Given the description of an element on the screen output the (x, y) to click on. 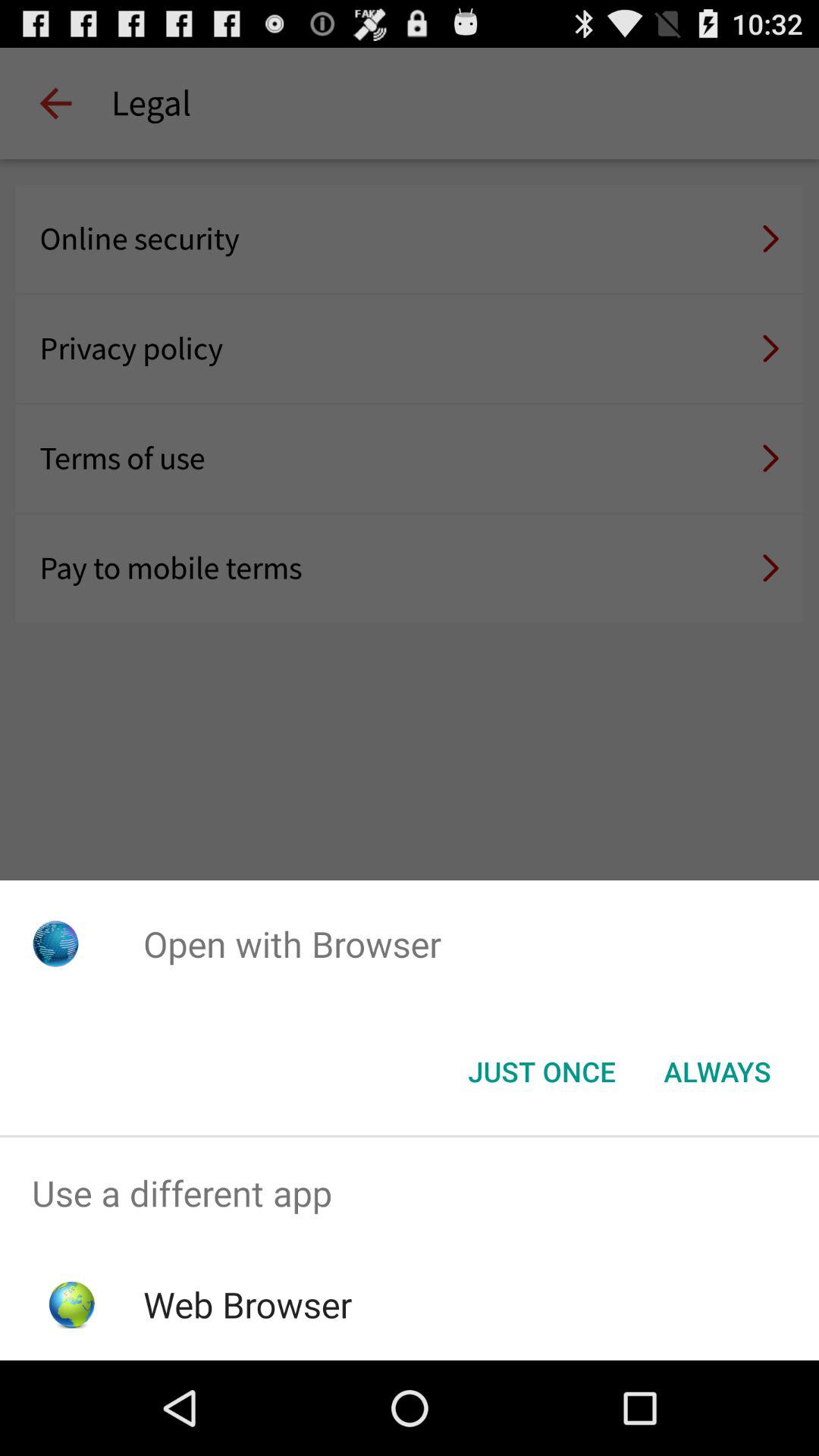
choose web browser icon (247, 1304)
